Given the description of an element on the screen output the (x, y) to click on. 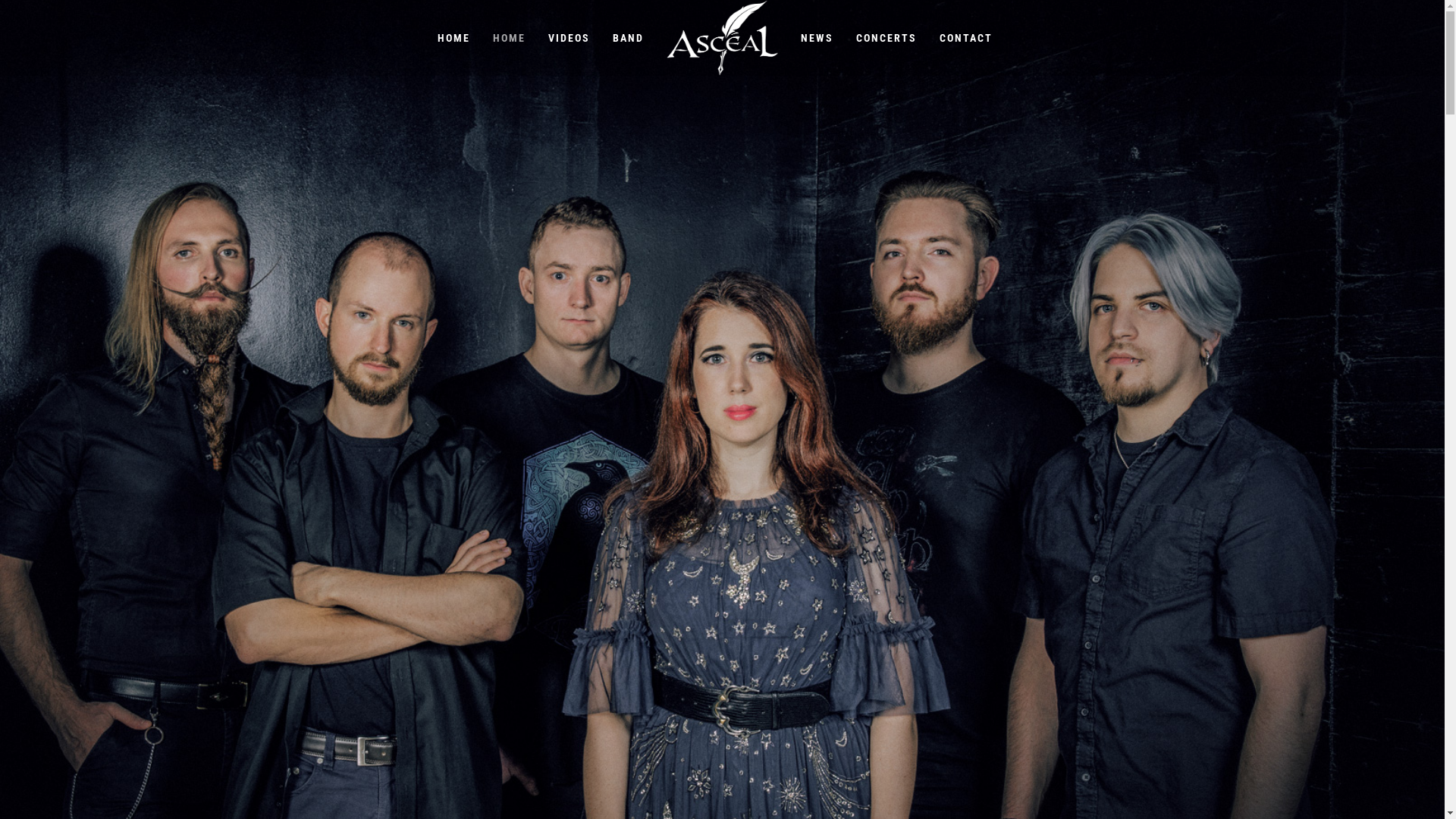
HOME Element type: text (453, 37)
VIDEOS Element type: text (568, 37)
CONCERTS Element type: text (886, 37)
HOME Element type: text (508, 37)
NEWS Element type: text (816, 37)
BAND Element type: text (628, 37)
CONTACT Element type: text (966, 37)
